Given the description of an element on the screen output the (x, y) to click on. 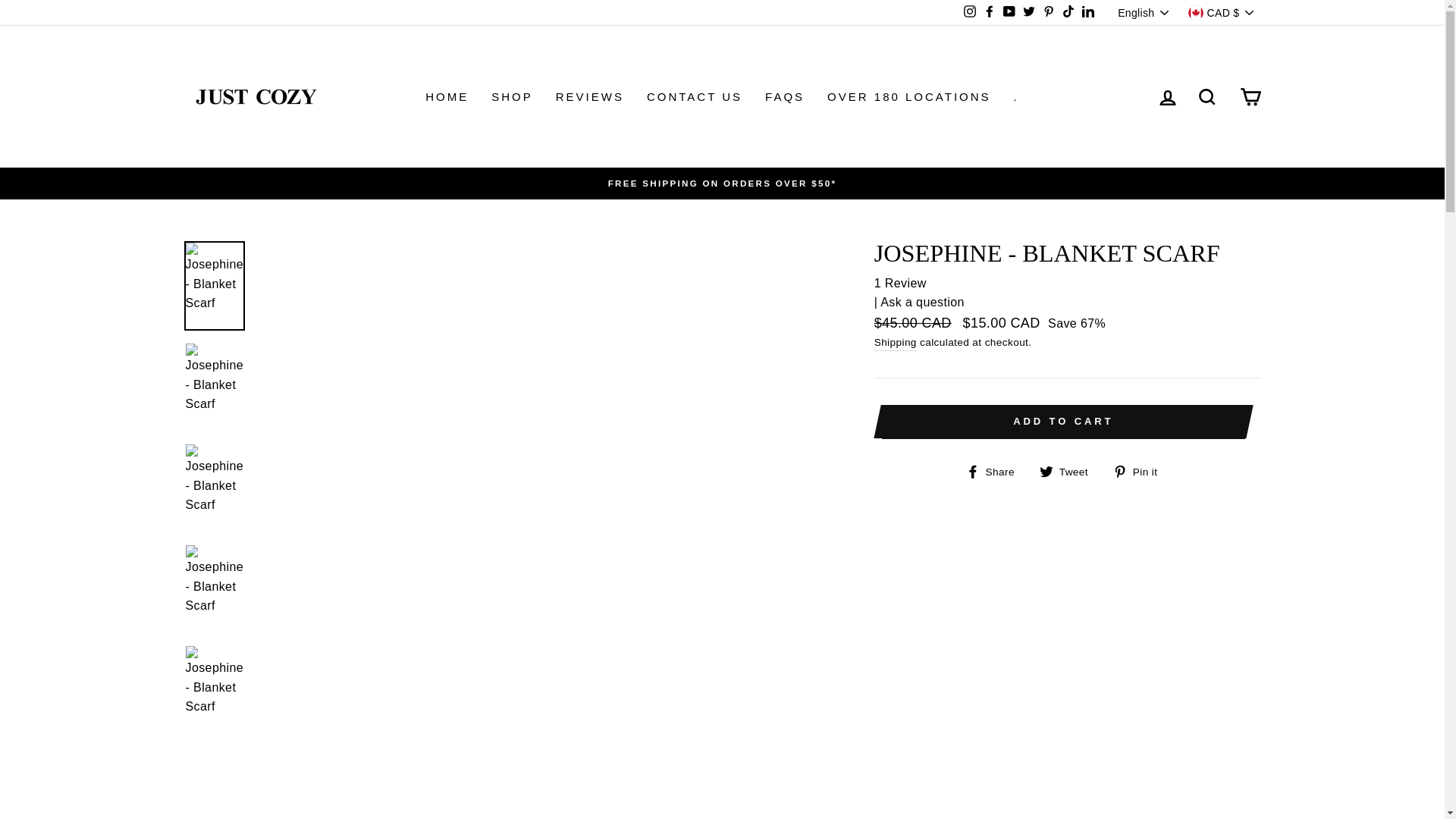
Tweet on Twitter (1069, 471)
Share on Facebook (996, 471)
Pin on Pinterest (1141, 471)
